Given the description of an element on the screen output the (x, y) to click on. 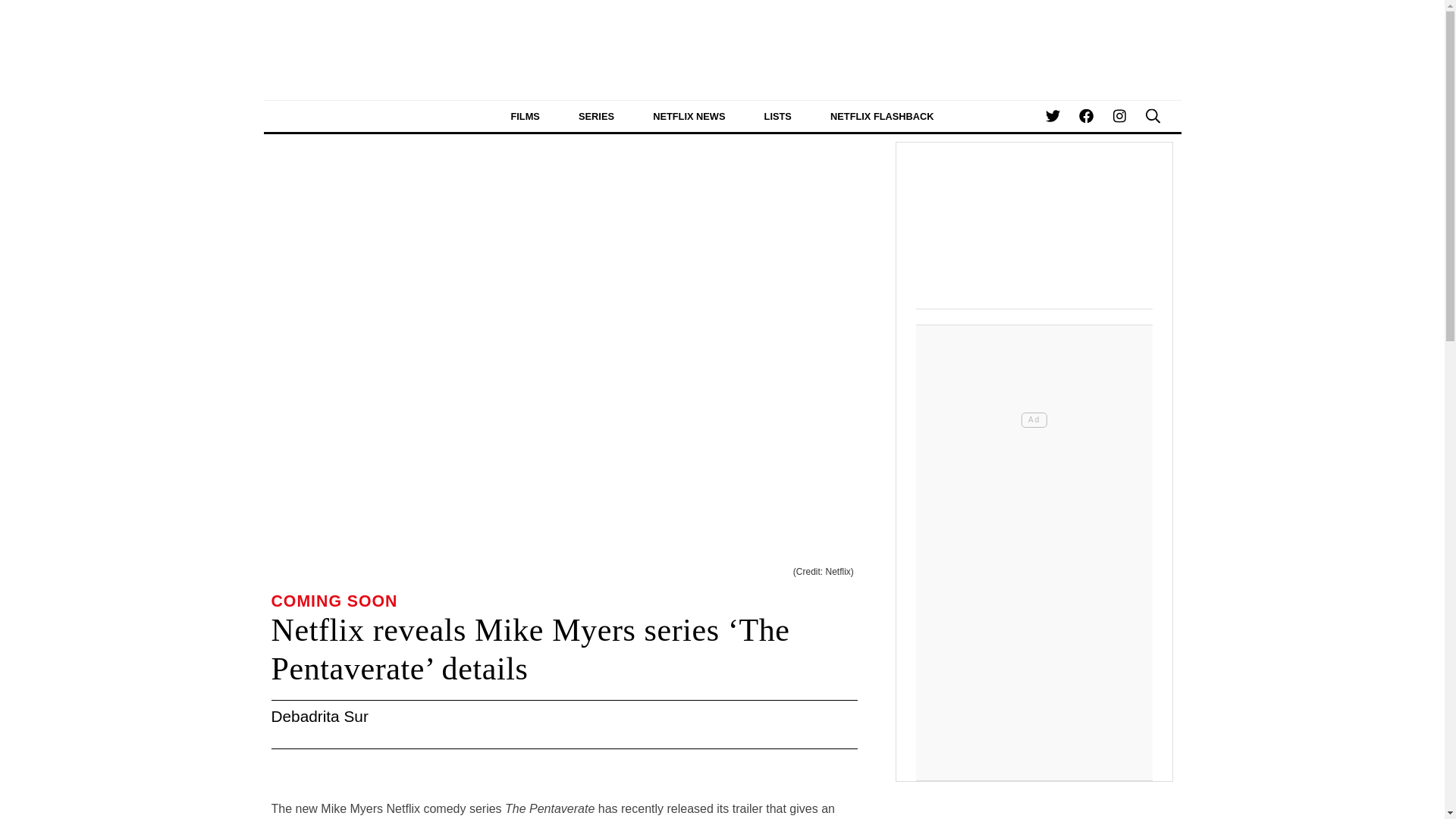
Debadrita Sur (319, 715)
NETFLIX NEWS (688, 115)
Posts by Debadrita Sur (319, 715)
FILMS (525, 115)
COMING SOON (333, 601)
NETFLIX FLASHBACK (881, 115)
SERIES (596, 115)
LISTS (777, 115)
